Given the description of an element on the screen output the (x, y) to click on. 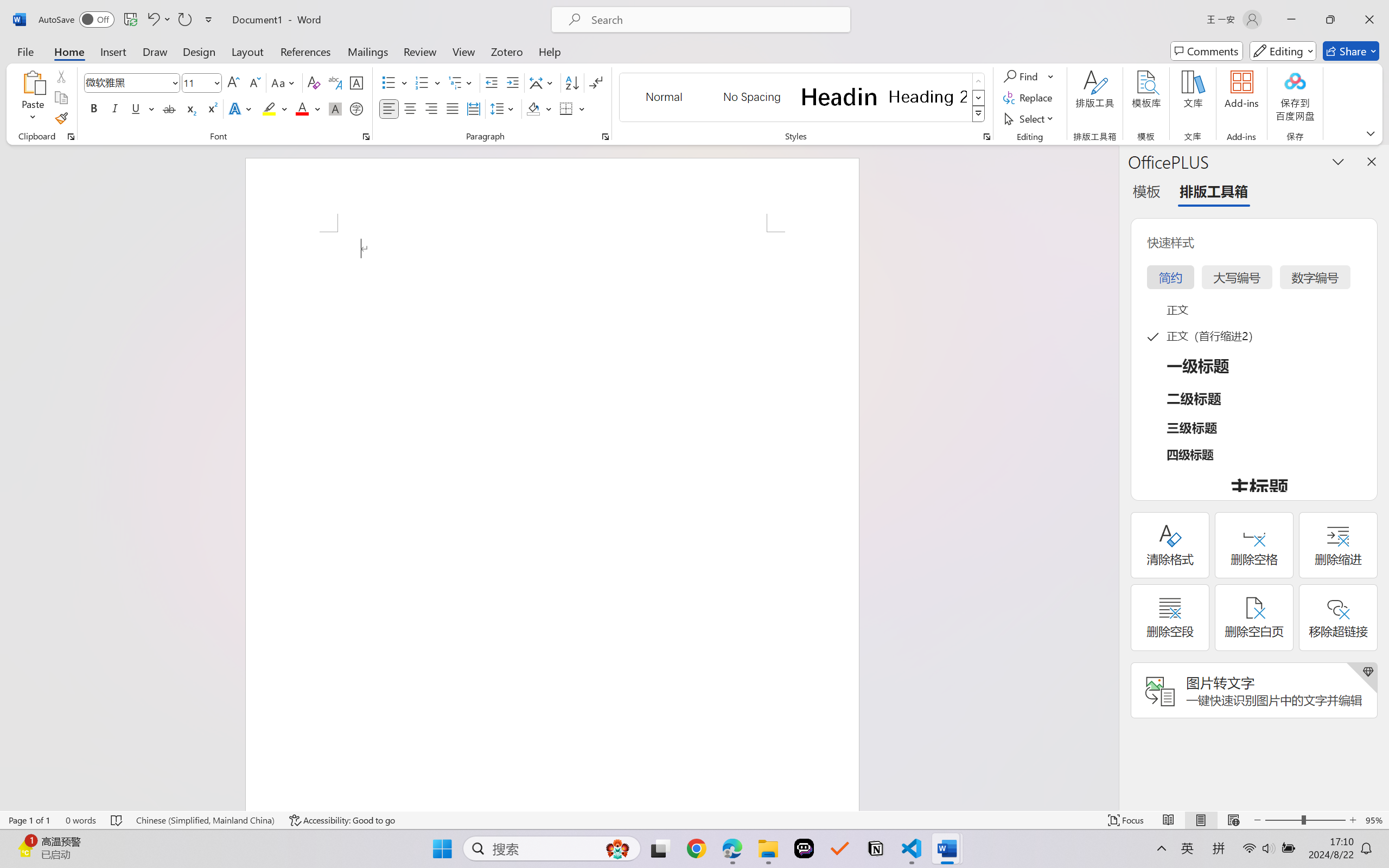
Language Chinese (Simplified, Mainland China) (205, 819)
